Given the description of an element on the screen output the (x, y) to click on. 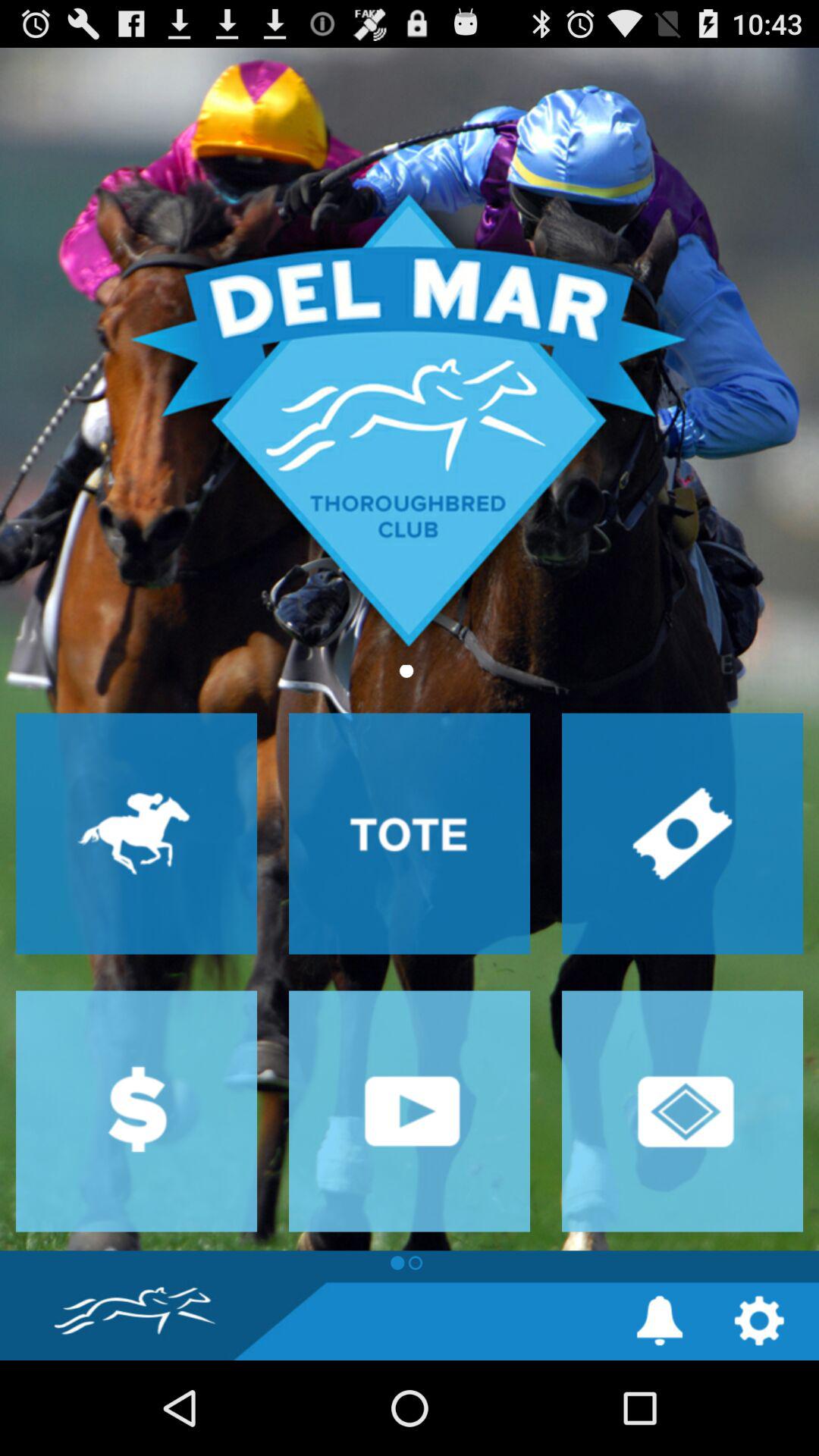
notification settings (659, 1320)
